Given the description of an element on the screen output the (x, y) to click on. 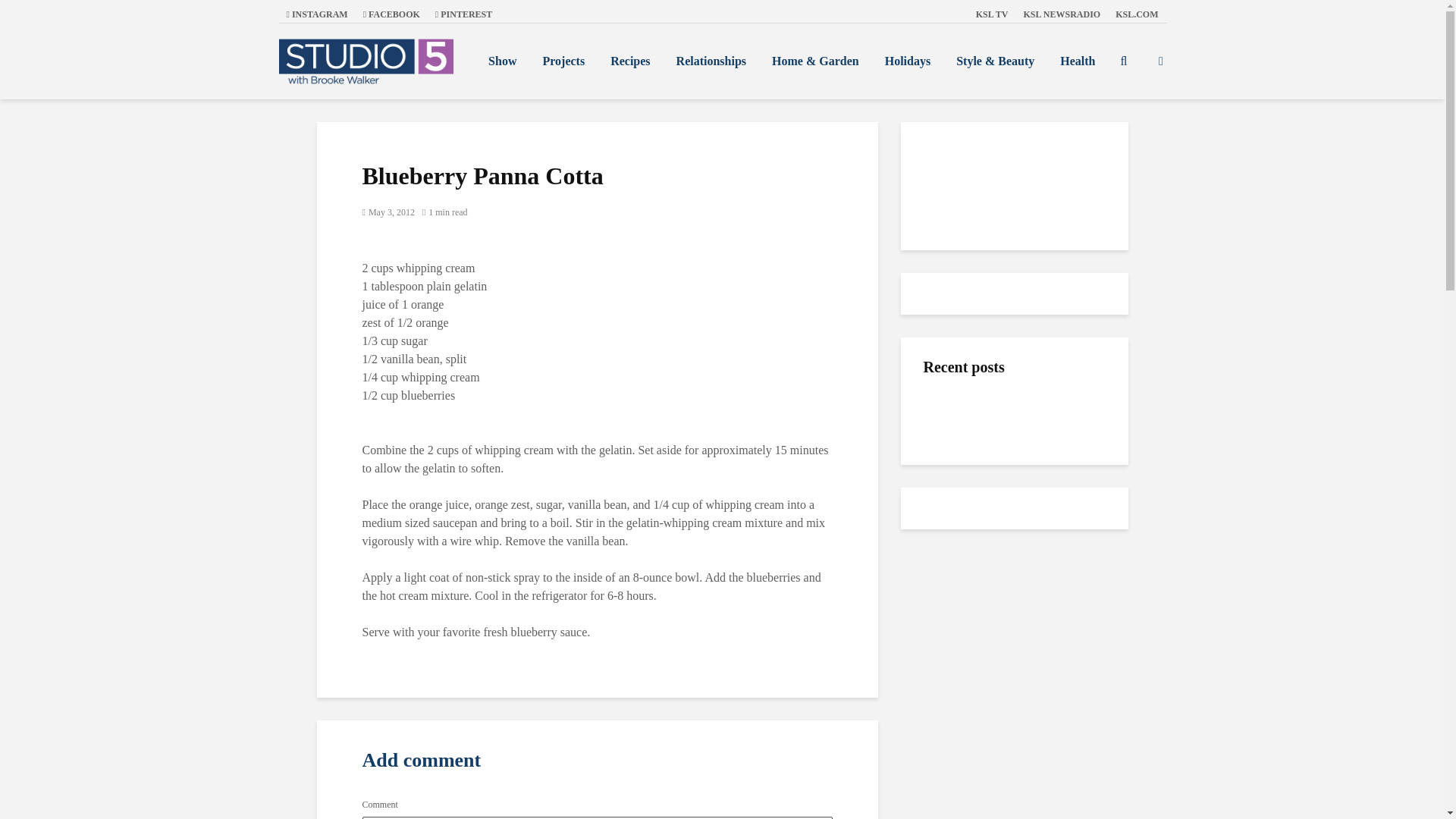
Relationships (711, 60)
Holidays (907, 60)
Health (1077, 60)
Projects (563, 60)
PINTEREST (463, 14)
KSL NEWSRADIO (1061, 14)
KSL TV (992, 14)
FACEBOOK (391, 14)
INSTAGRAM (317, 14)
Recipes (629, 60)
